Given the description of an element on the screen output the (x, y) to click on. 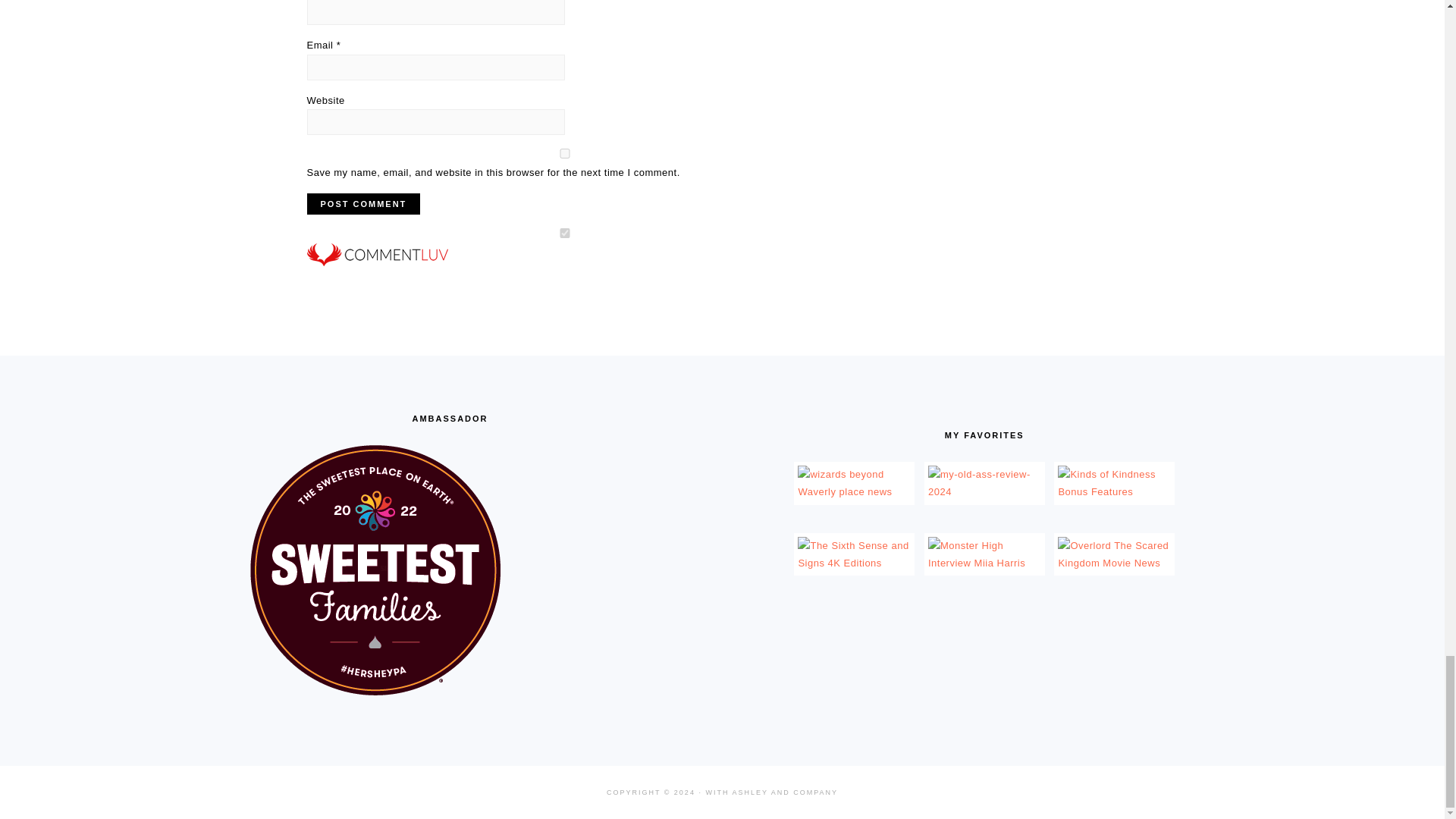
yes (563, 153)
Post Comment (362, 203)
on (563, 233)
